Given the description of an element on the screen output the (x, y) to click on. 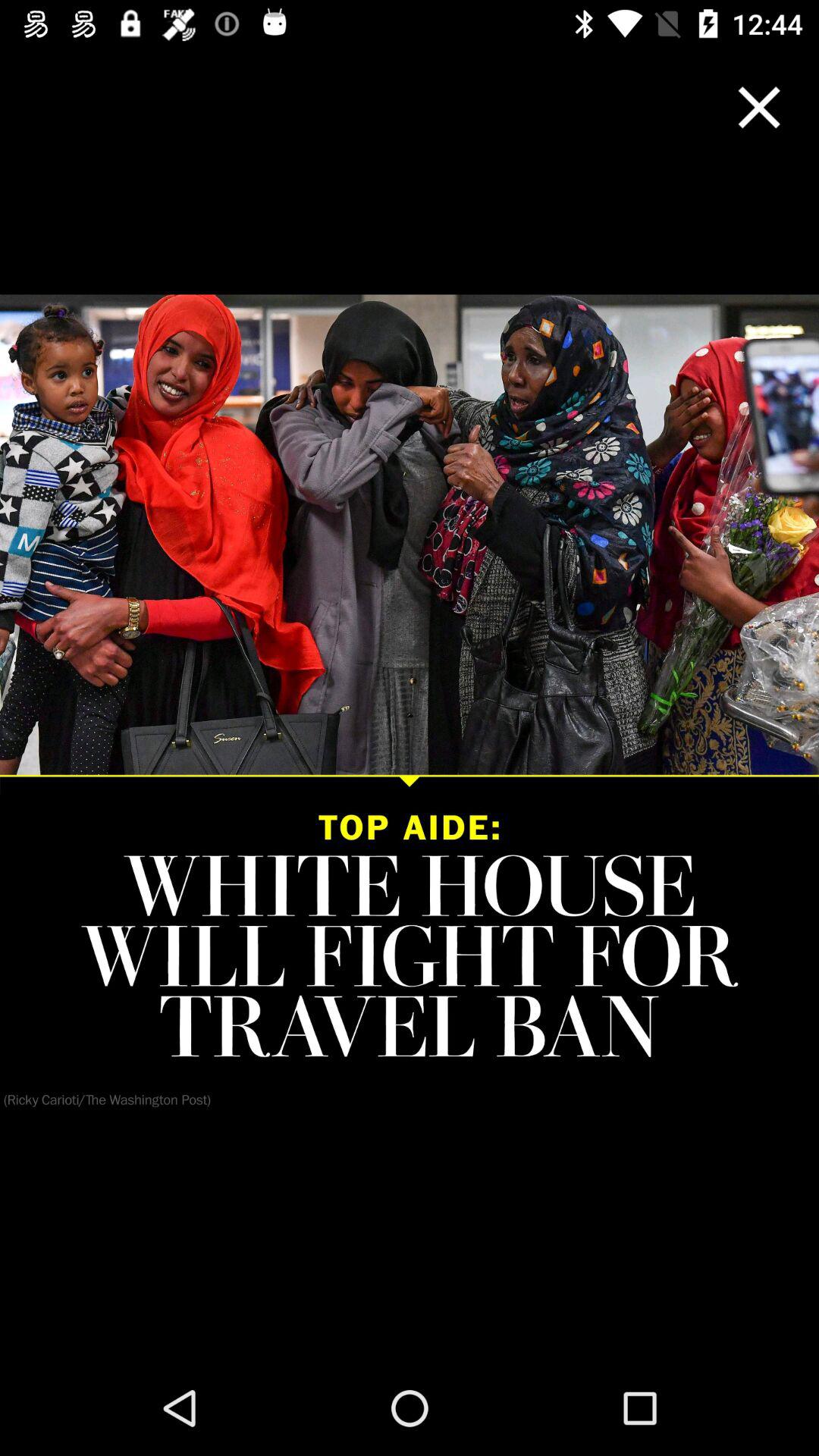
close window (759, 107)
